Given the description of an element on the screen output the (x, y) to click on. 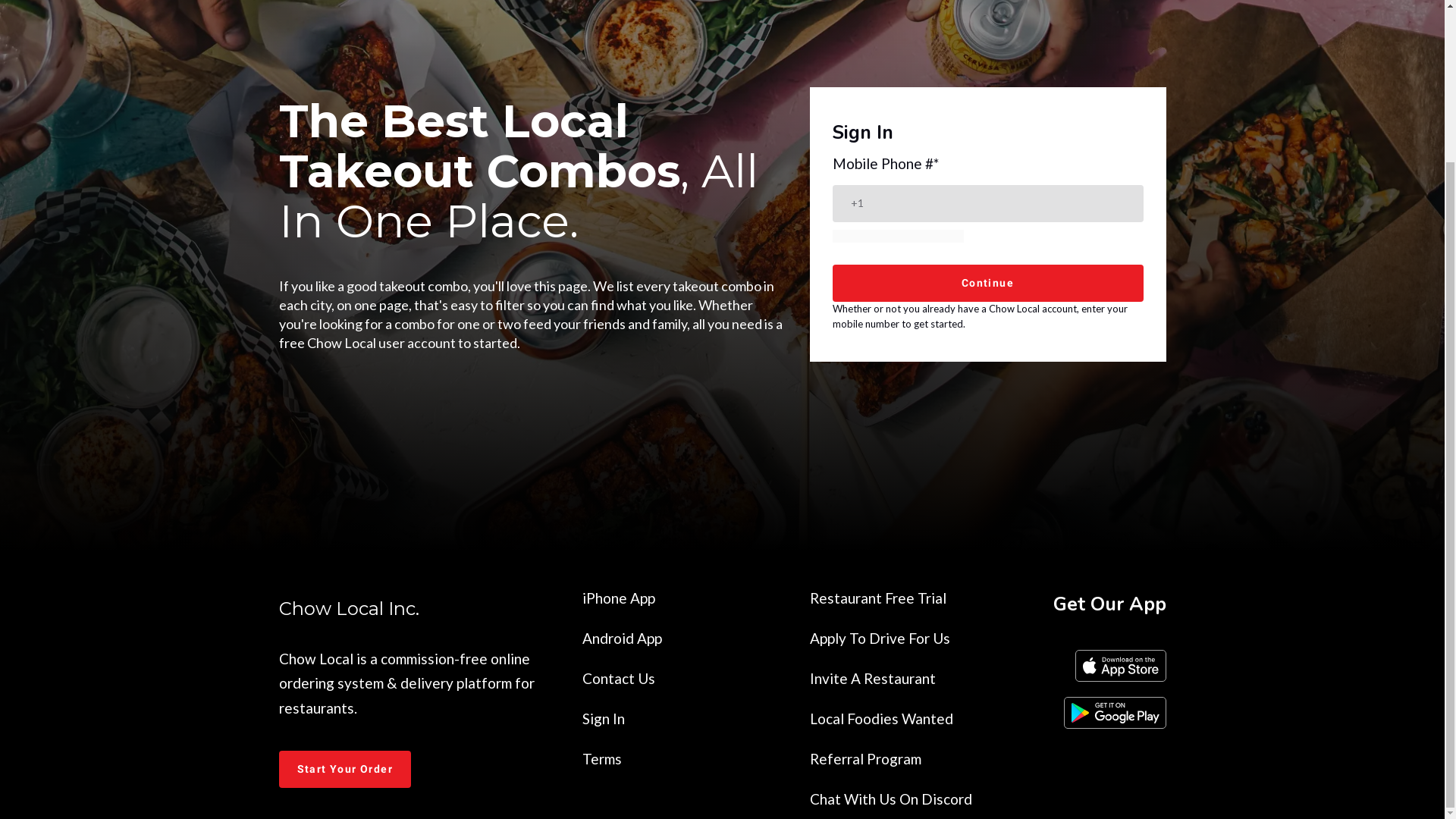
Restaurant Free Trial (877, 597)
Referral Program (865, 758)
Android App (622, 638)
Invite A Restaurant (872, 678)
Chat With Us On Discord (890, 798)
Local Foodies Wanted (881, 718)
Continue (987, 283)
Contact Us (618, 678)
Chow Local Inc. (419, 606)
Sign In (603, 718)
